Given the description of an element on the screen output the (x, y) to click on. 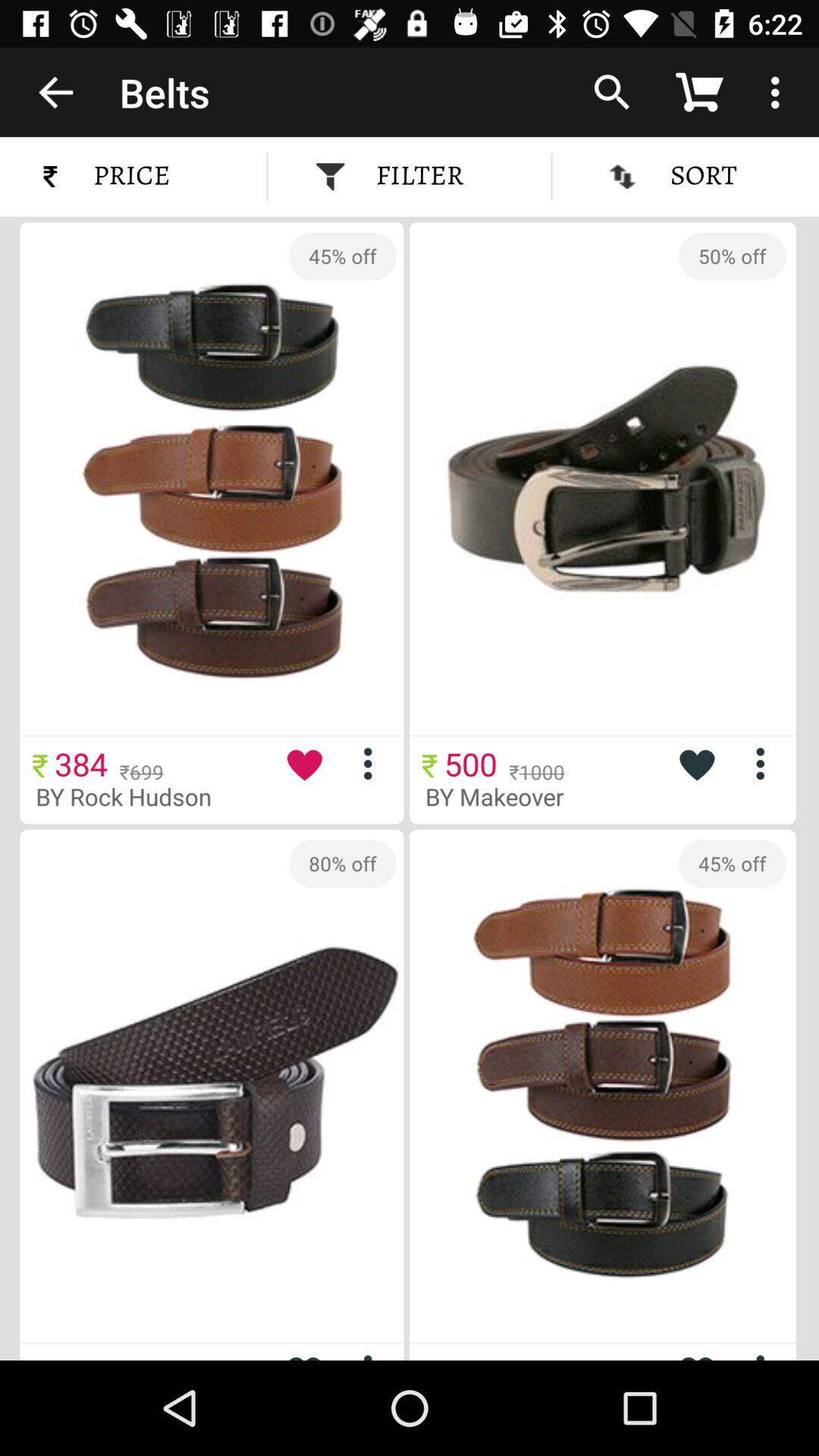
view more option (766, 1353)
